Given the description of an element on the screen output the (x, y) to click on. 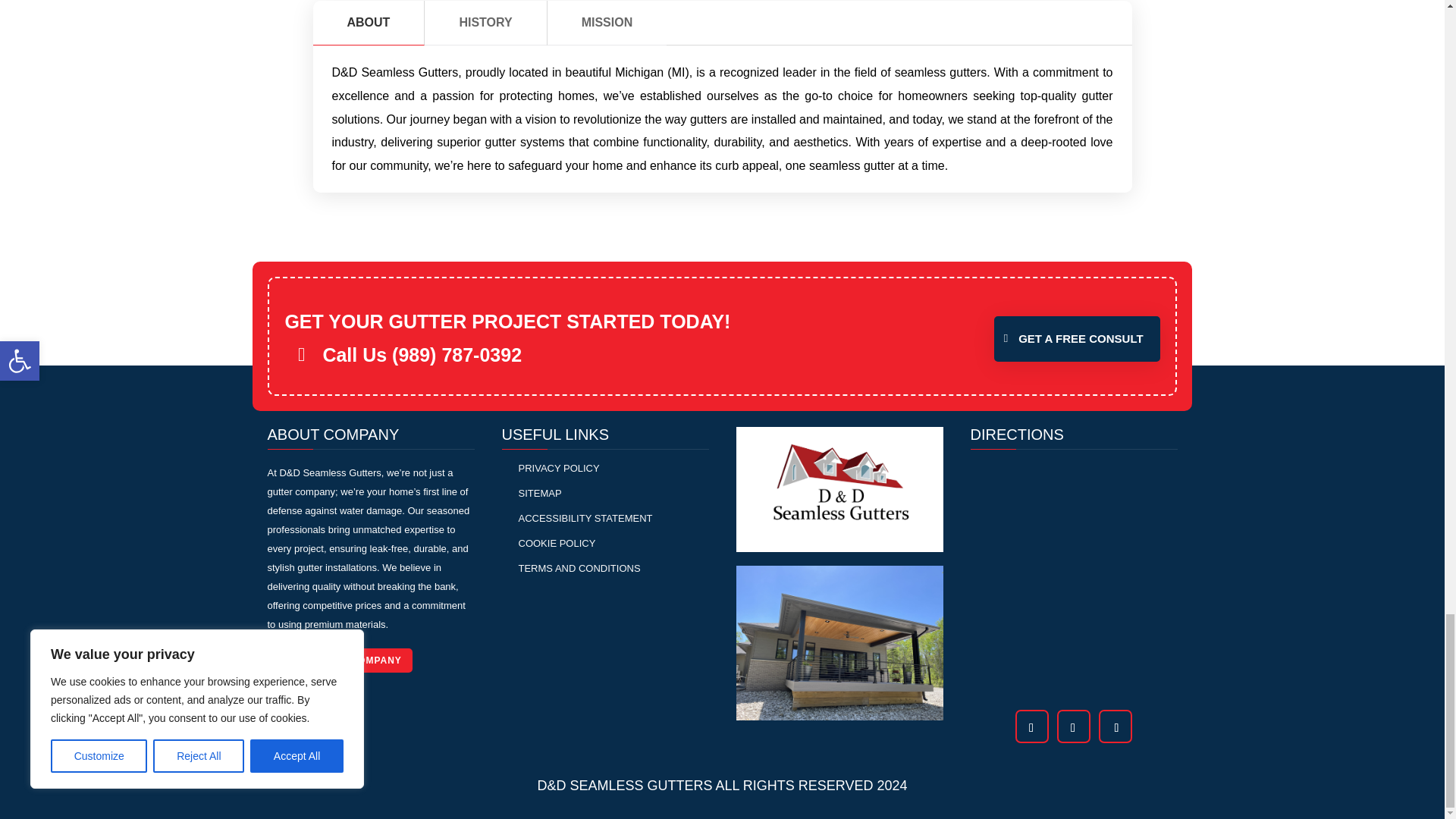
Follow on Facebook (1031, 727)
Follow on Pinterest (1072, 727)
Follow on Instagram (1115, 727)
